Given the description of an element on the screen output the (x, y) to click on. 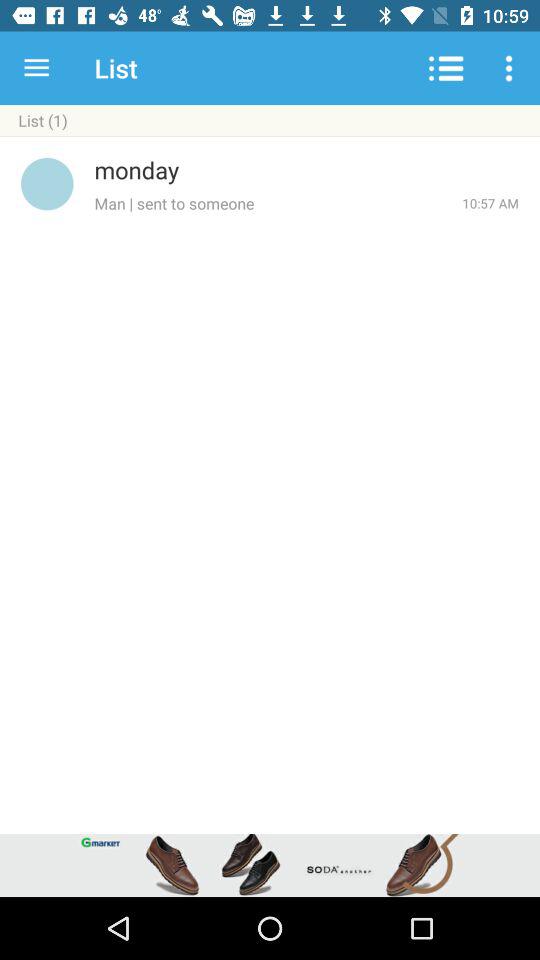
press the 10:57 am item (490, 203)
